Given the description of an element on the screen output the (x, y) to click on. 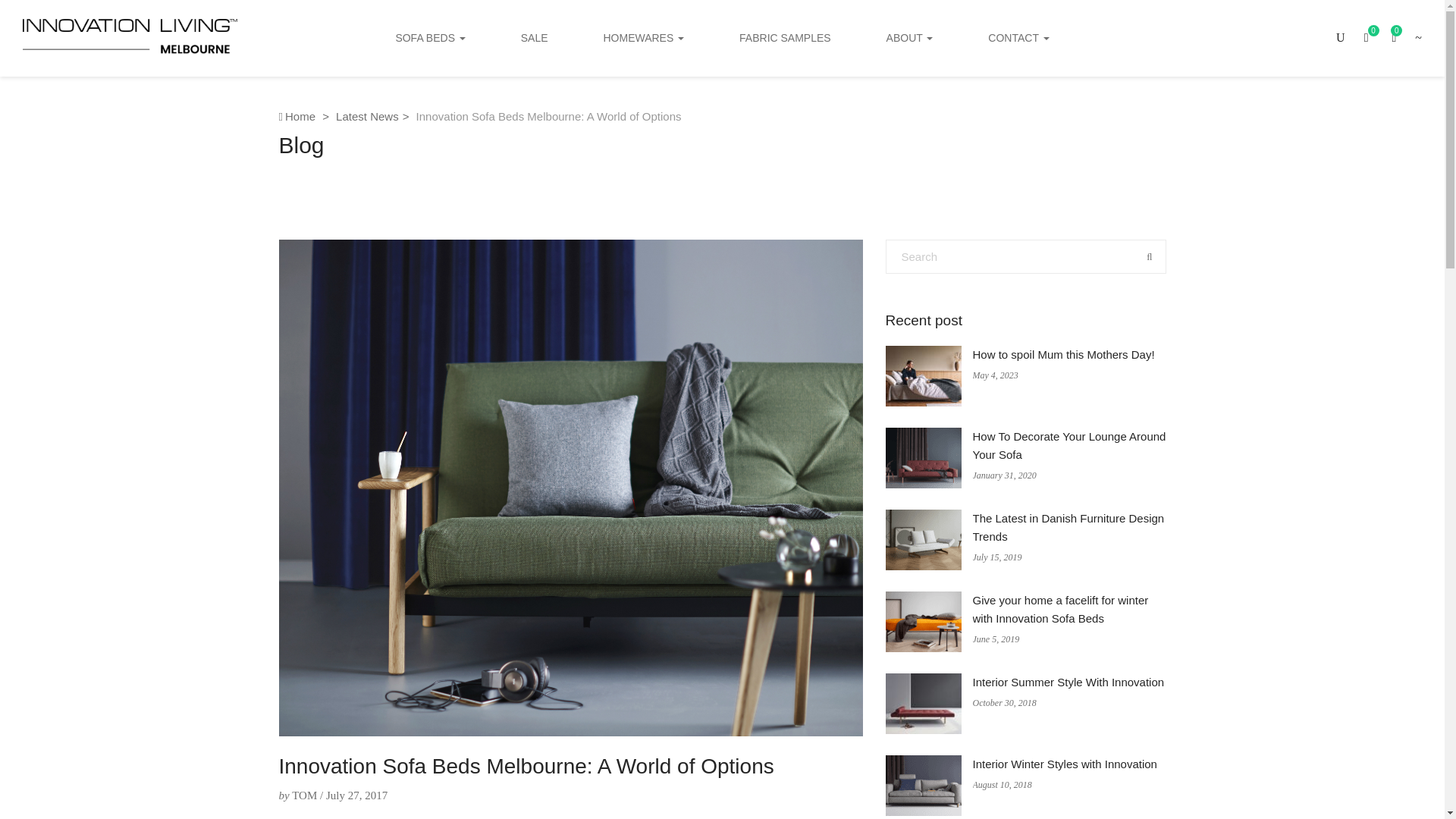
Request Fabric Samples (785, 37)
